Given the description of an element on the screen output the (x, y) to click on. 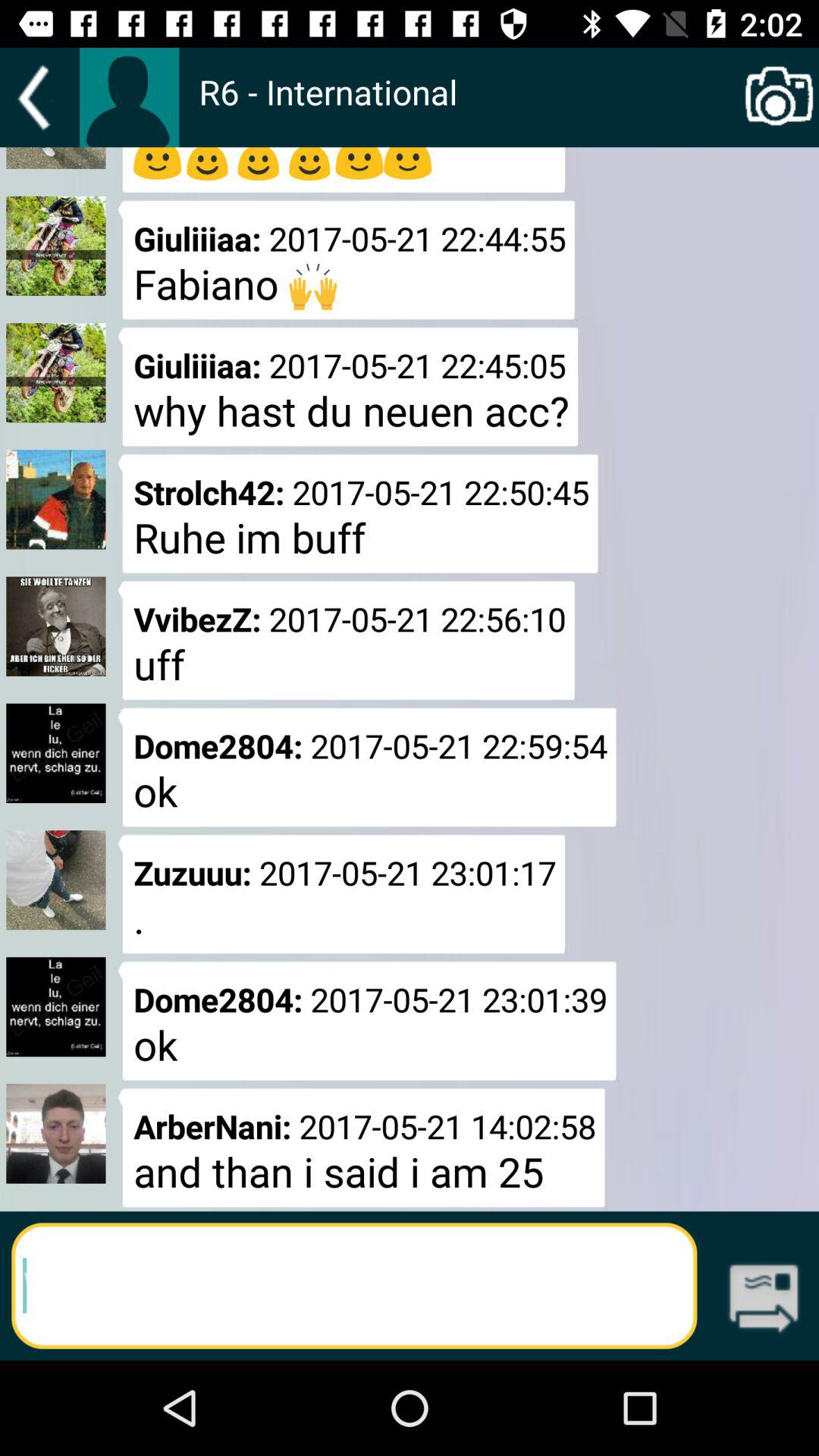
turn off icon at the bottom right corner (763, 1300)
